Given the description of an element on the screen output the (x, y) to click on. 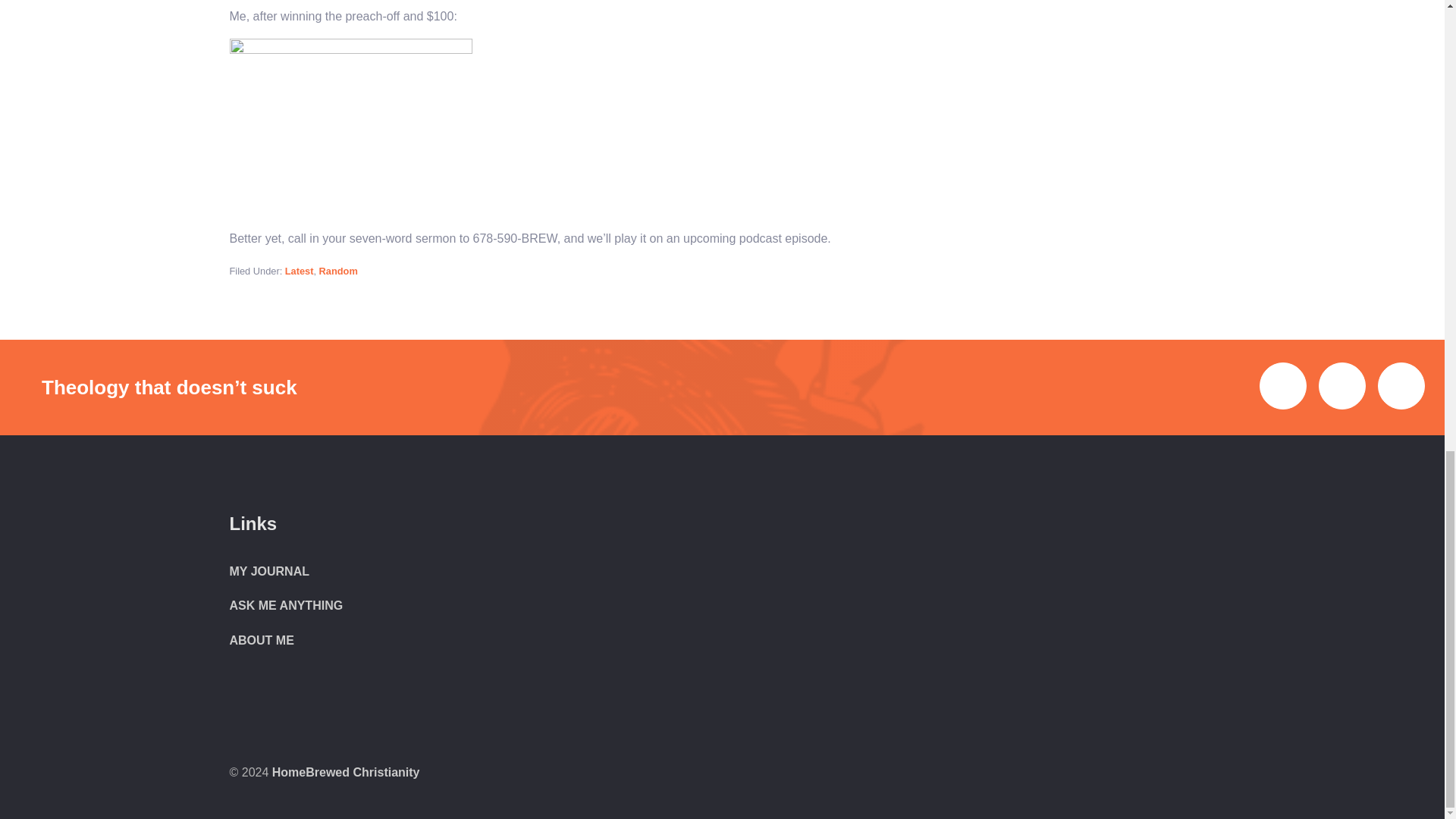
Random (338, 270)
HomeBrewed Christianity (346, 771)
Latest (299, 270)
ASK ME ANYTHING (285, 604)
MY JOURNAL (268, 571)
ABOUT ME (261, 640)
